Given the description of an element on the screen output the (x, y) to click on. 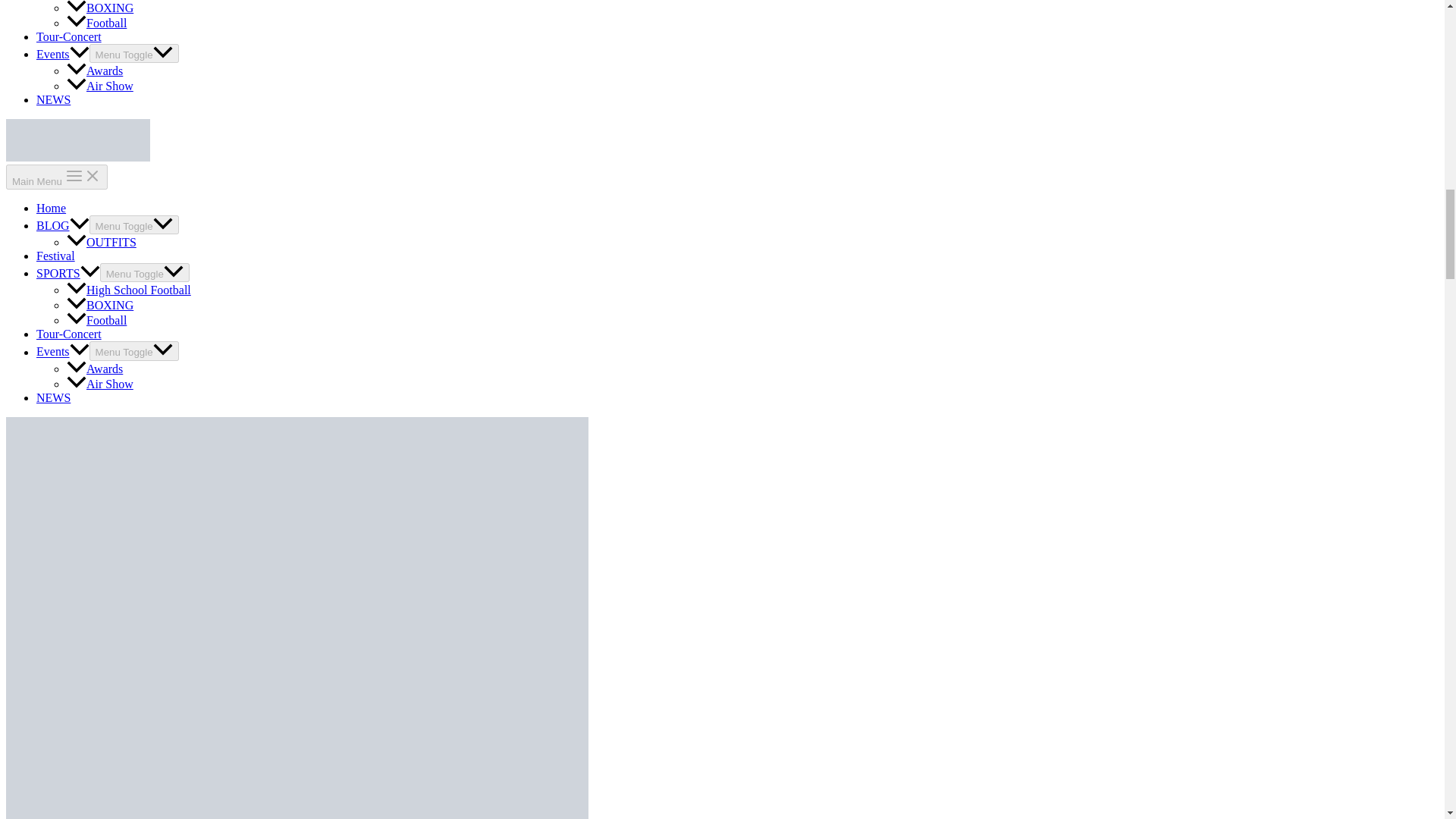
Air Show (99, 383)
Air Show (99, 85)
Tour-Concert (68, 36)
Menu Toggle (133, 53)
Awards (94, 70)
NEWS (52, 99)
NEWS (52, 397)
Menu Toggle (144, 271)
Main Menu (56, 176)
OUTFITS (101, 241)
Festival (55, 255)
Home (50, 207)
Awards (94, 368)
Tour-Concert (68, 333)
Menu Toggle (133, 224)
